Given the description of an element on the screen output the (x, y) to click on. 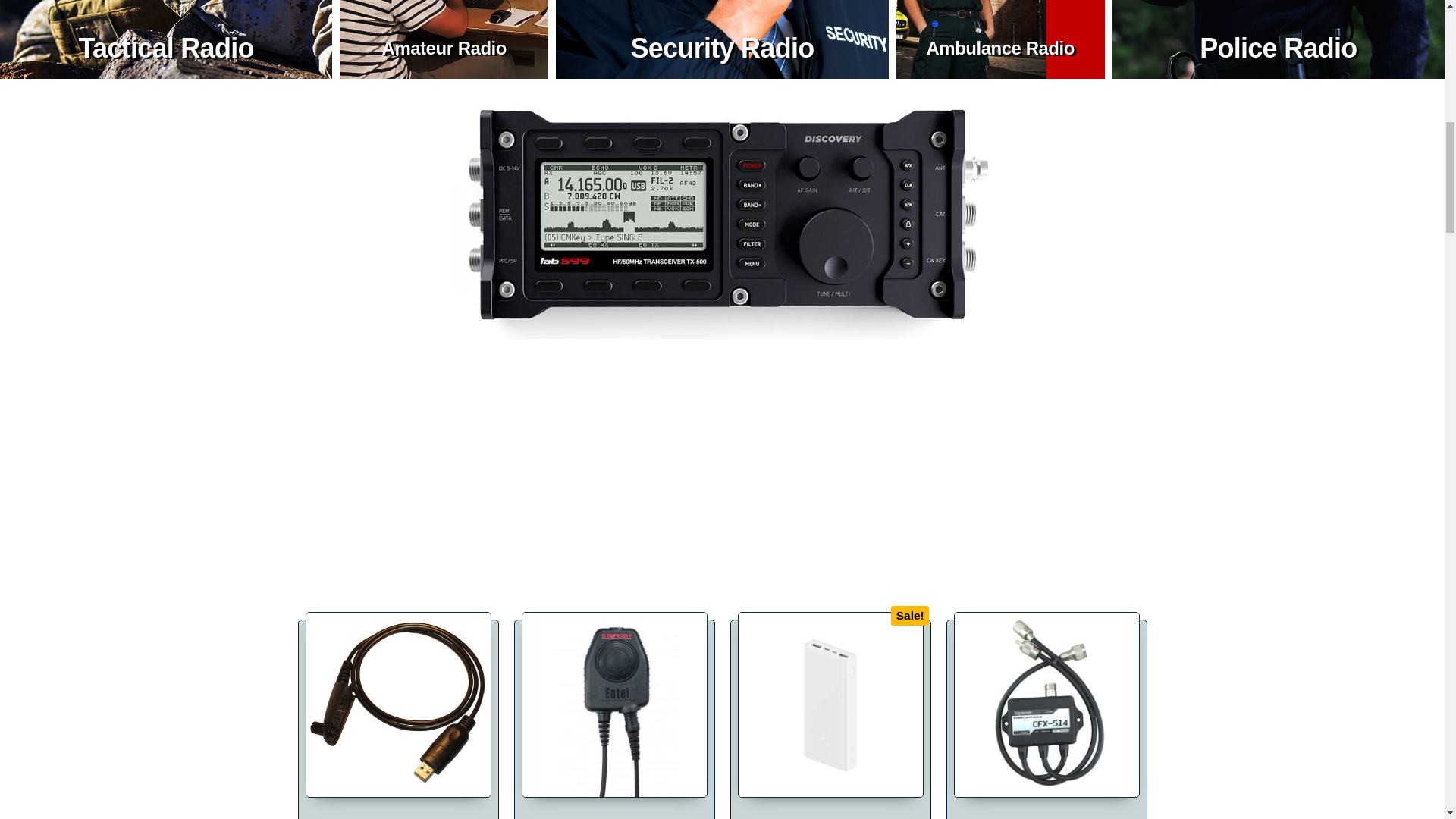
Amateur Radio (443, 47)
Security Radio (721, 47)
Tactical Radio (165, 47)
Ambulance Radio (1000, 47)
Police Radio (1277, 47)
